Given the description of an element on the screen output the (x, y) to click on. 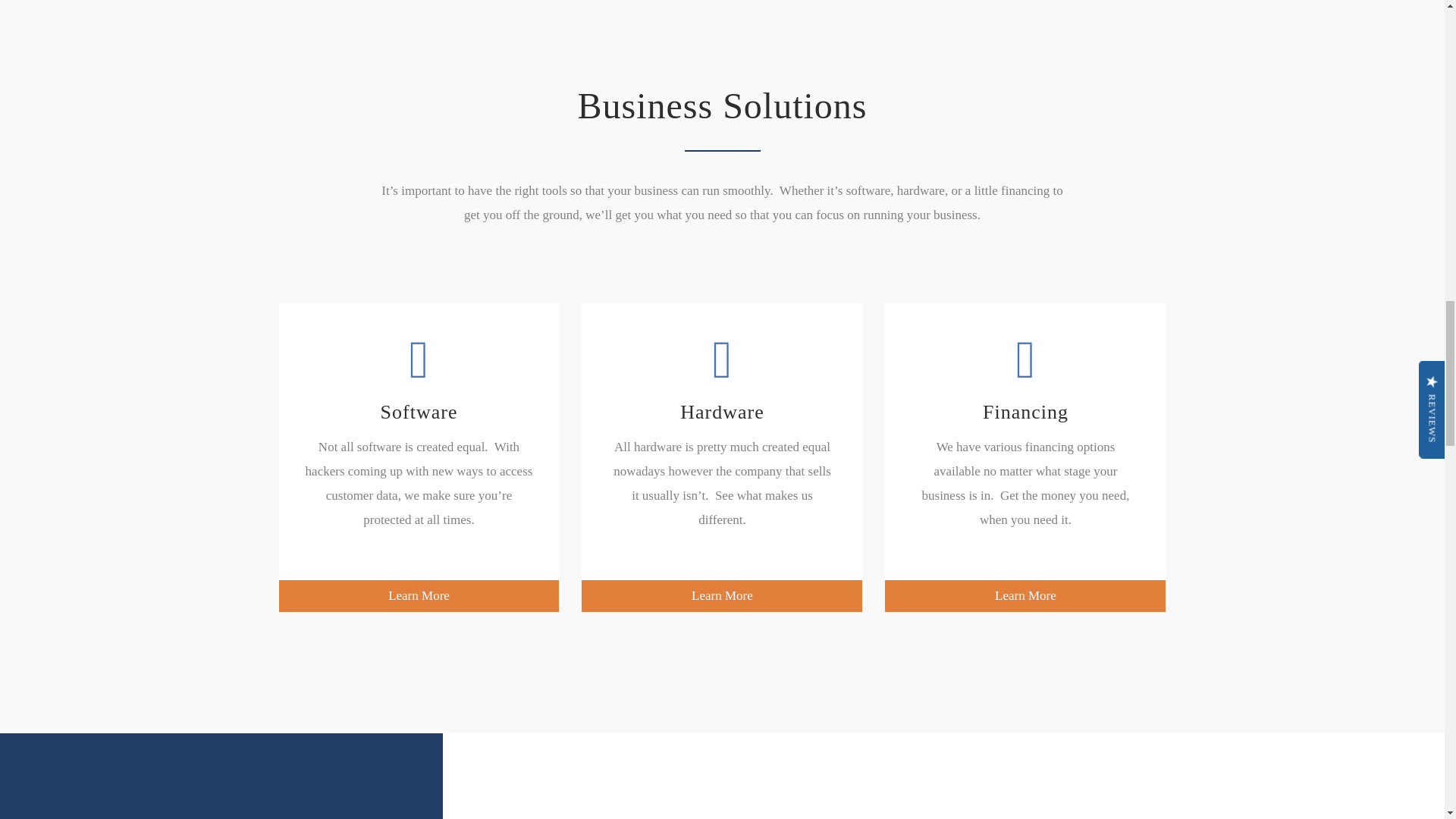
Learn More (720, 595)
Hardware (721, 377)
Learn More (419, 595)
Learn More (1025, 595)
Software (418, 377)
Financing (1024, 377)
